Given the description of an element on the screen output the (x, y) to click on. 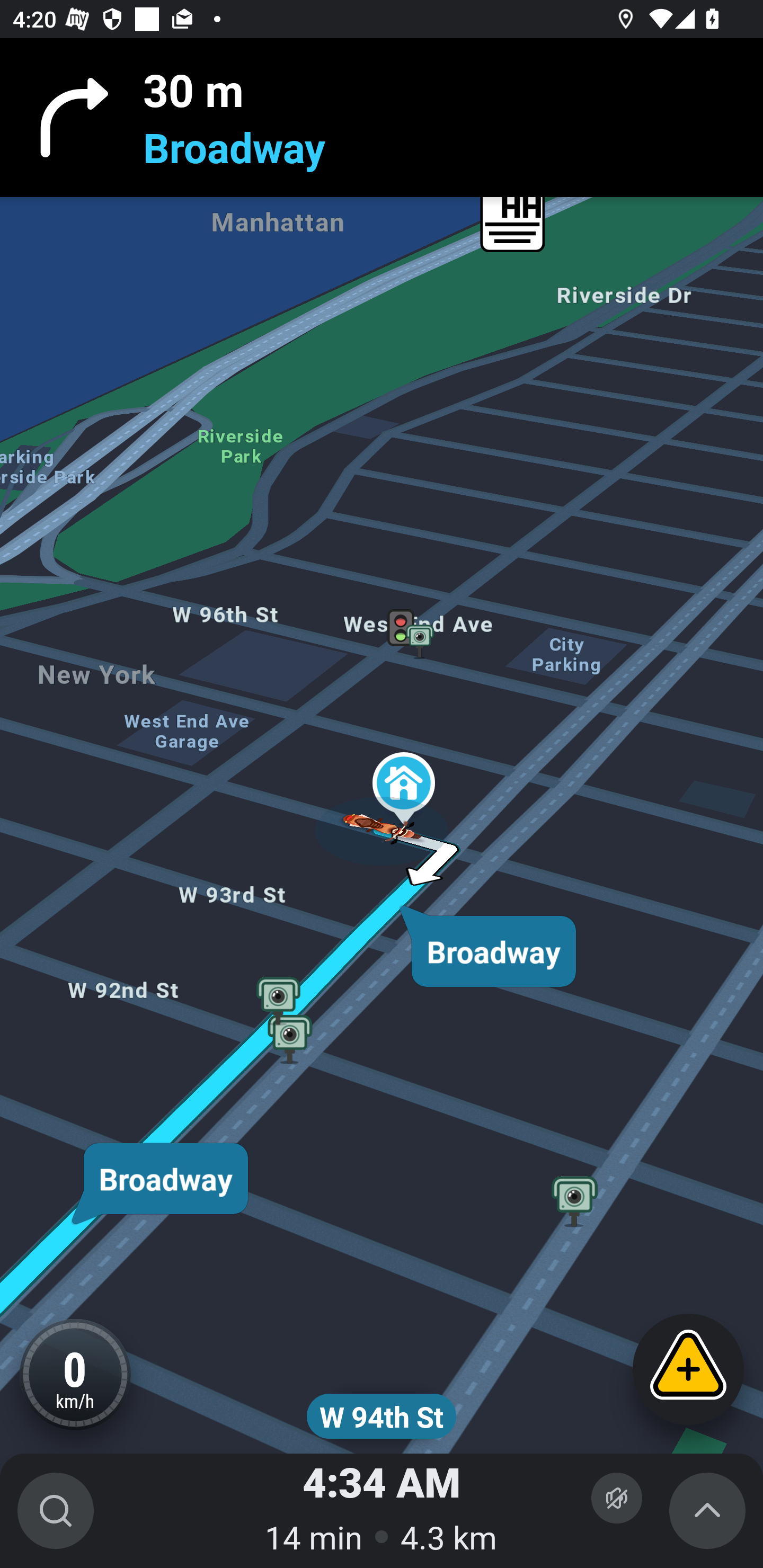
30 m Broadway (381, 117)
4:34 AM 14 min 4.3 km (381, 1510)
